Given the description of an element on the screen output the (x, y) to click on. 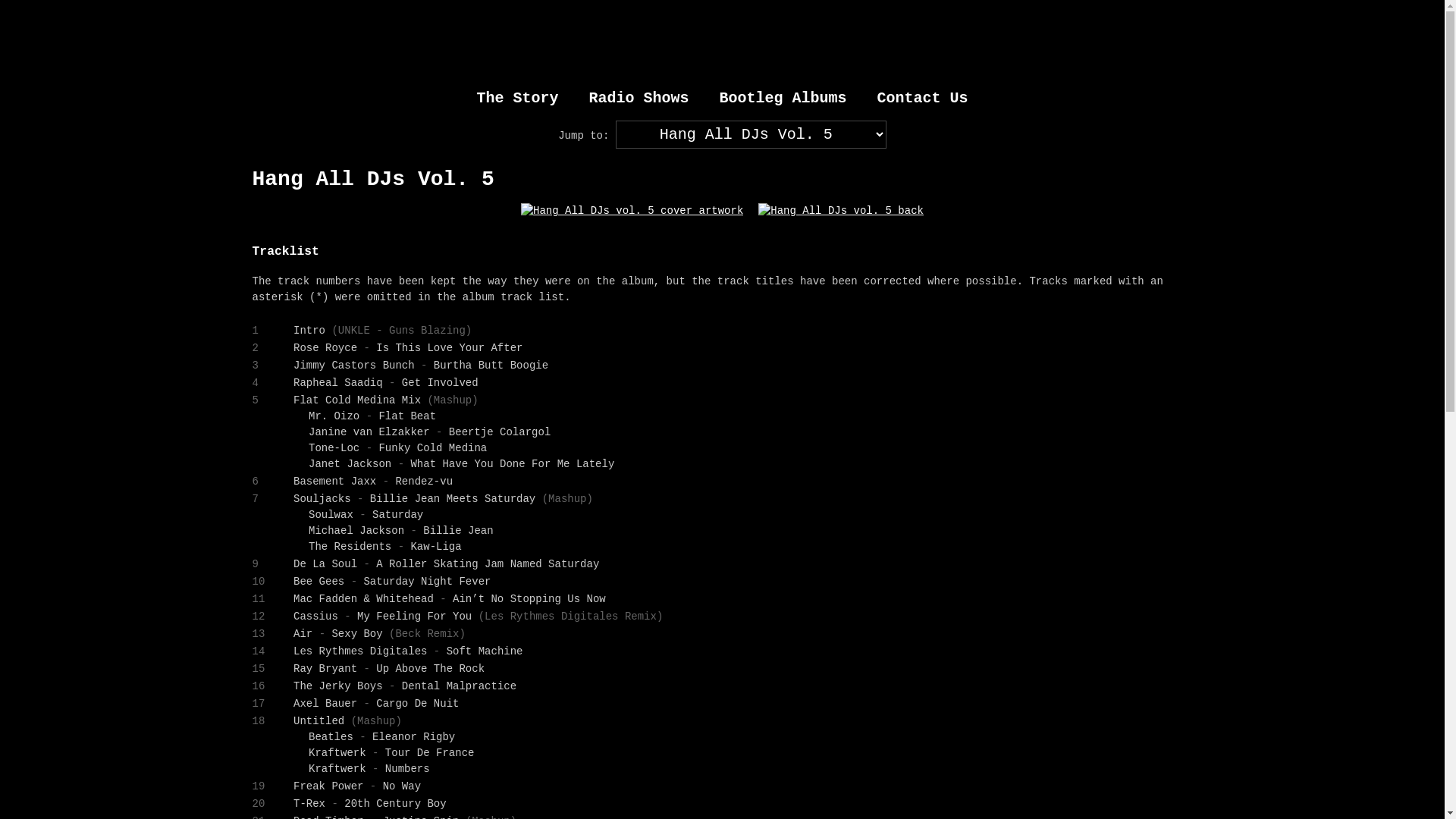
Search Element type: text (26, 9)
Bootleg Albums Element type: text (782, 98)
Skip to content Element type: text (0, 10)
2manybootlegs Element type: text (722, 40)
Contact Us Element type: text (922, 98)
Radio Shows Element type: text (638, 98)
The Story Element type: text (517, 98)
